Given the description of an element on the screen output the (x, y) to click on. 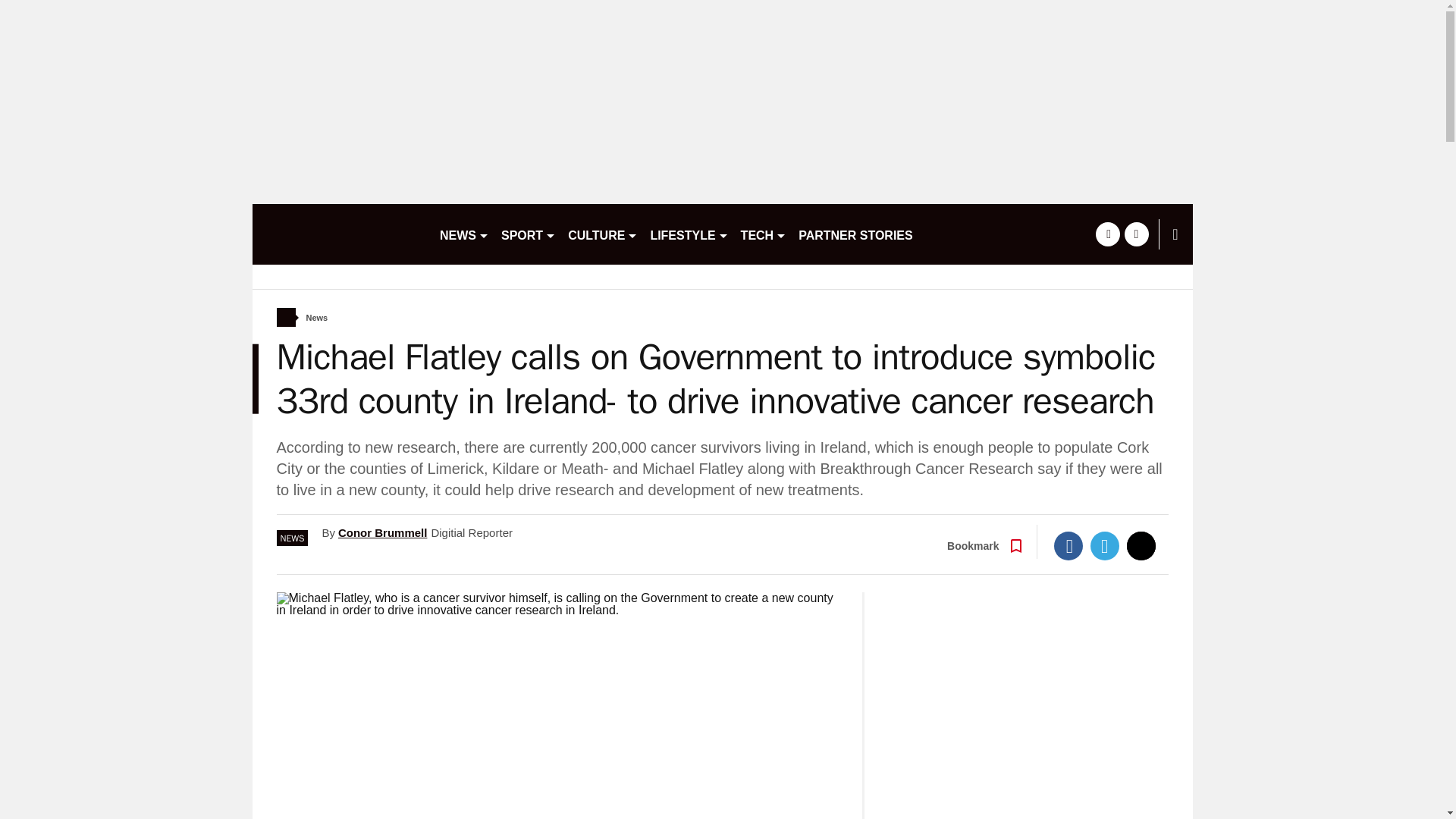
facebook (1106, 233)
buzz (338, 233)
SPORT (528, 233)
Twitter (1104, 545)
CULTURE (602, 233)
NEWS (464, 233)
Facebook (1068, 545)
TECH (764, 233)
PARTNER STORIES (855, 233)
twitter (1136, 233)
